Given the description of an element on the screen output the (x, y) to click on. 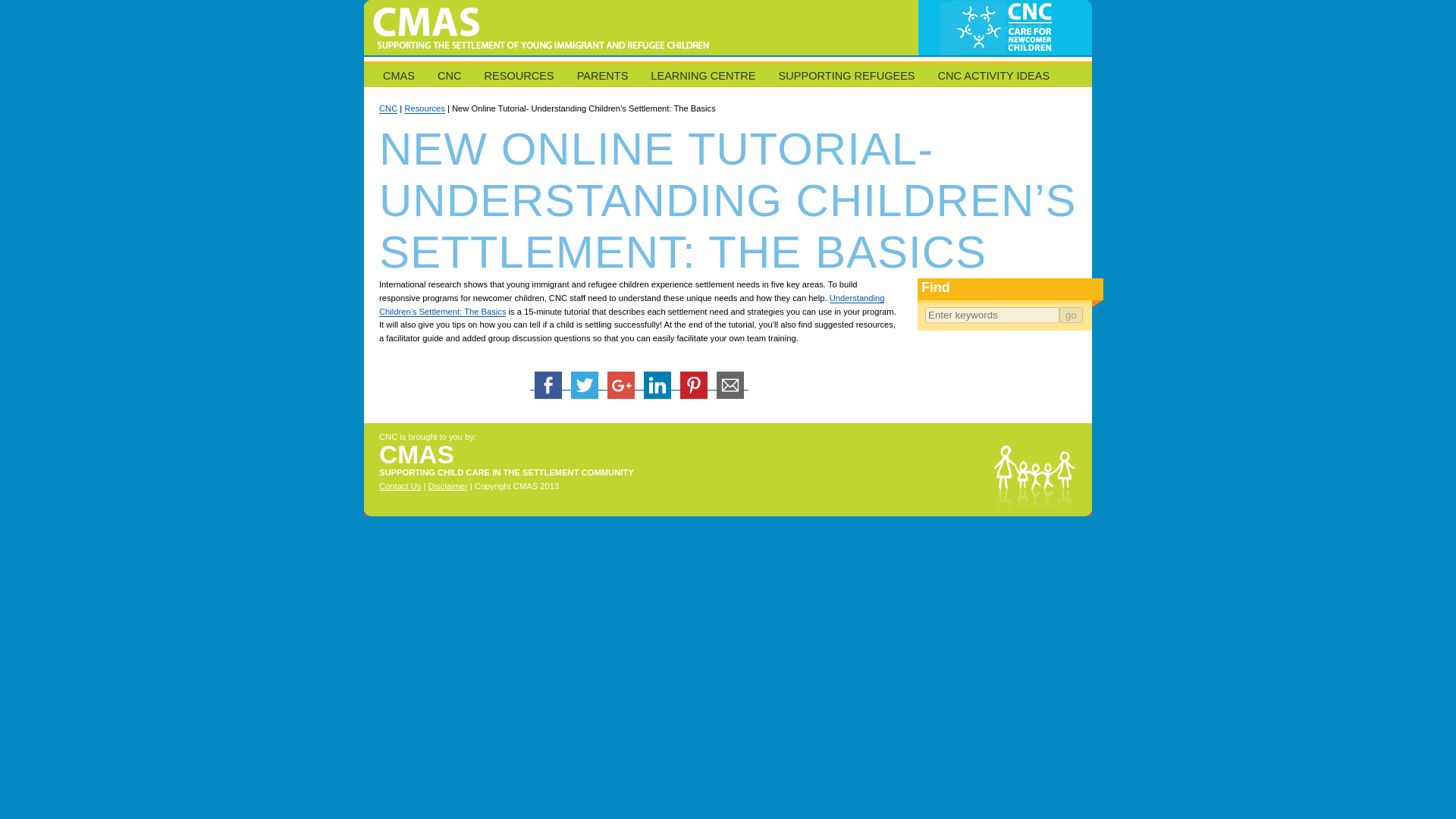
Search (1071, 314)
CMAS (398, 76)
CMAS: Supporting Child Care in the Settlement Community (728, 51)
twitter (584, 384)
facebook (547, 384)
CNC (448, 76)
linkedin (657, 384)
pinterest (693, 384)
Enter keywords (991, 314)
RESOURCES (519, 76)
